Given the description of an element on the screen output the (x, y) to click on. 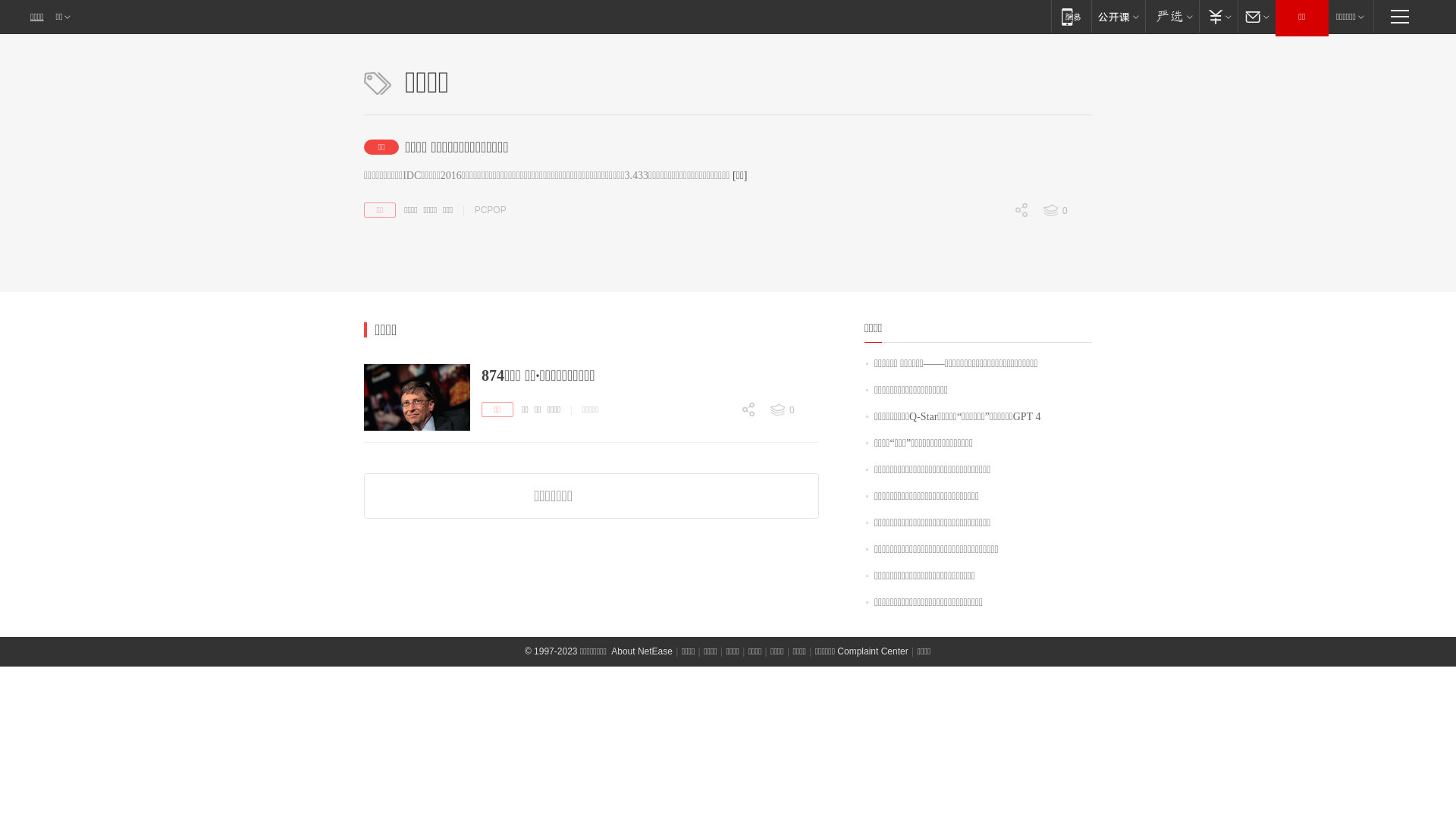
0 Element type: text (718, 436)
0 Element type: text (1065, 210)
0 Element type: text (991, 236)
About NetEase Element type: text (641, 651)
0 Element type: text (718, 515)
0 Element type: text (991, 316)
0 Element type: text (718, 489)
0 Element type: text (991, 289)
0 Element type: text (792, 409)
